Given the description of an element on the screen output the (x, y) to click on. 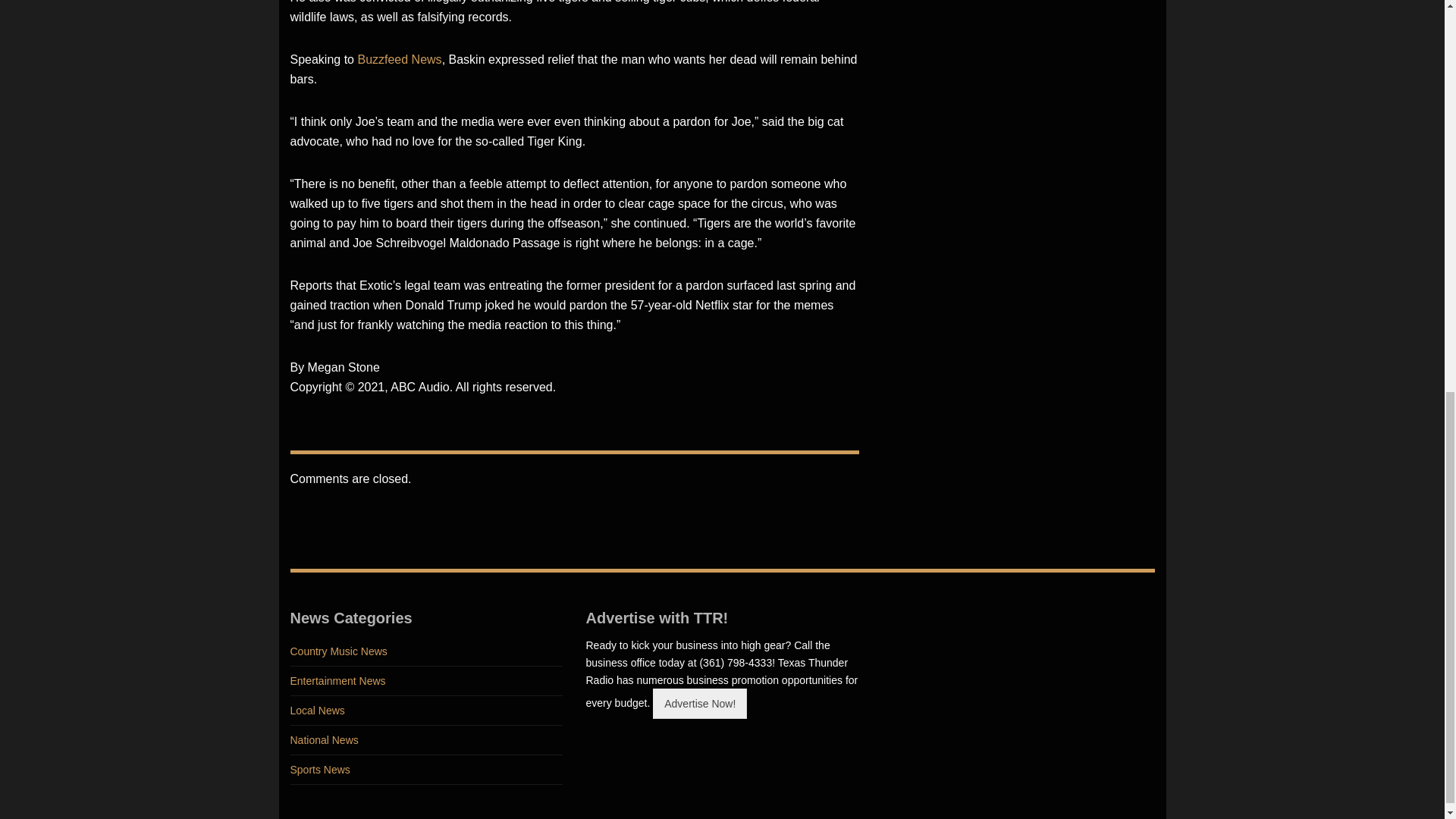
Local News (425, 710)
Sports News (425, 769)
Country Music News (425, 651)
Entertainment News (425, 681)
Advertise Now! (699, 703)
Advertise Now! (699, 702)
National News (425, 740)
Buzzfeed News (398, 59)
